Given the description of an element on the screen output the (x, y) to click on. 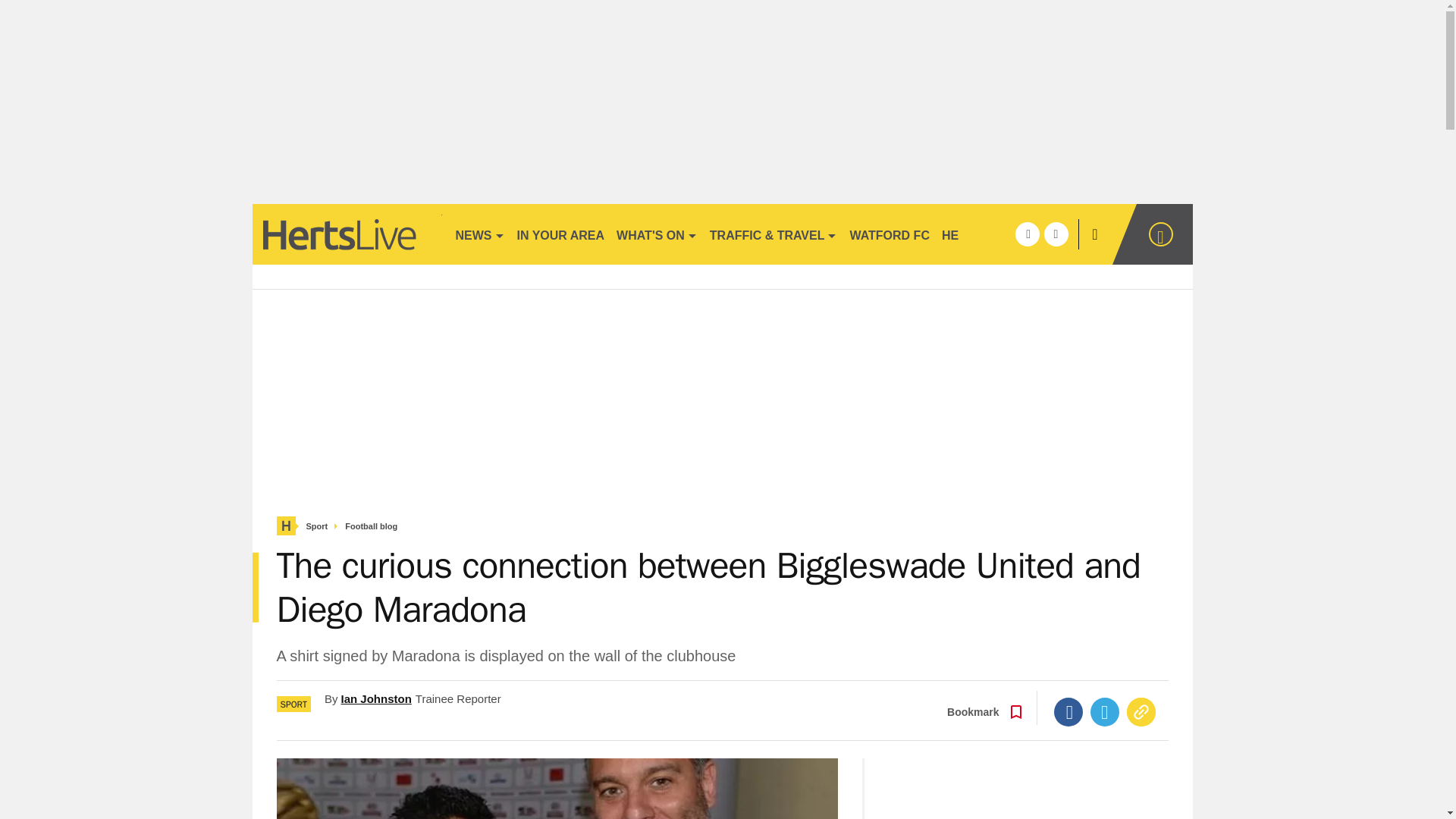
HEMEL HEMPSTEAD (1003, 233)
NEWS (479, 233)
WATFORD FC (888, 233)
Facebook (1068, 711)
IN YOUR AREA (561, 233)
Twitter (1104, 711)
WHAT'S ON (656, 233)
twitter (1055, 233)
facebook (1026, 233)
hertfordshiremercury (346, 233)
